Given the description of an element on the screen output the (x, y) to click on. 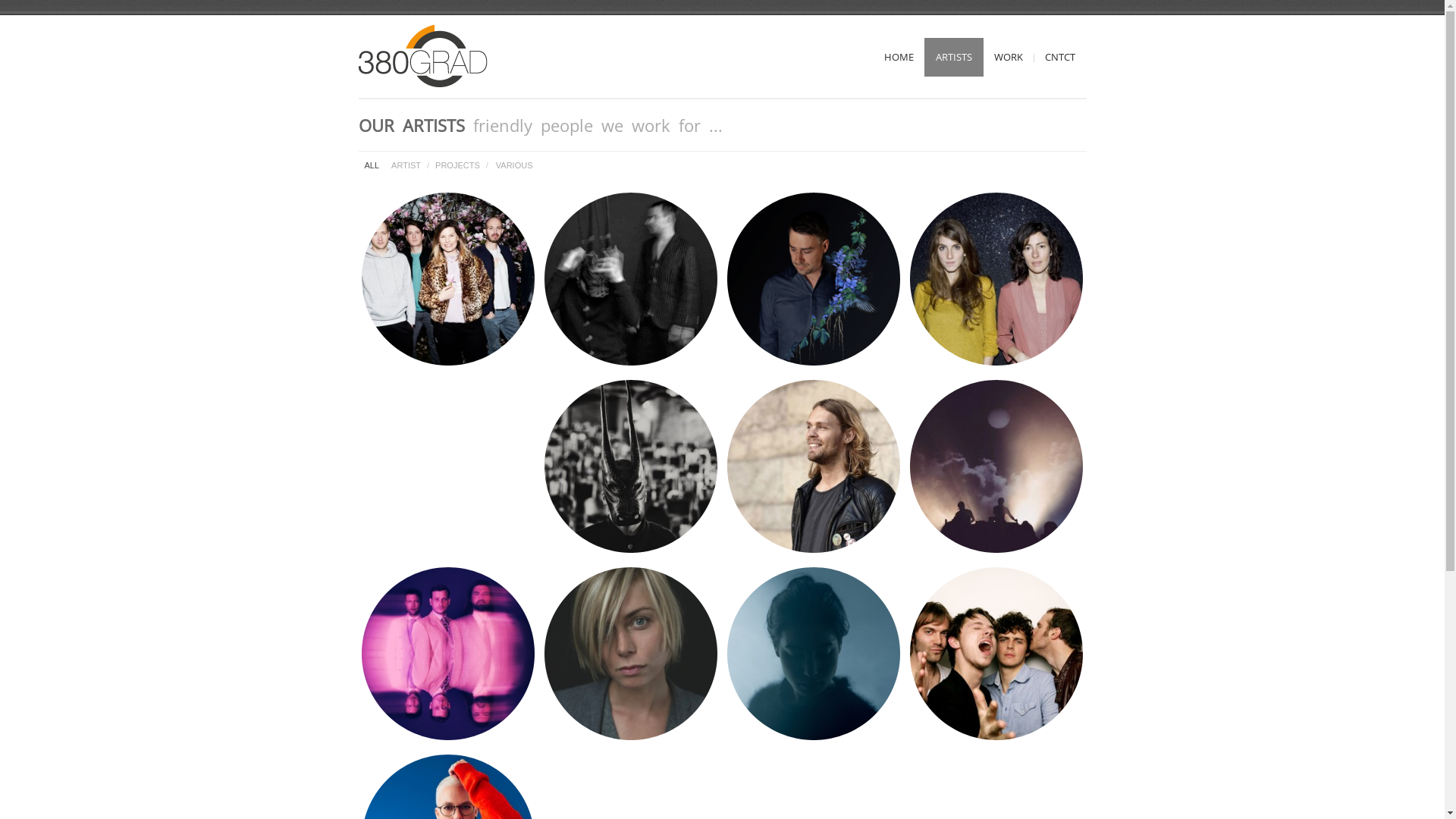
CNTCT Element type: text (1058, 56)
WORK Element type: text (1008, 56)
VARIOUS Element type: text (514, 165)
ARTISTS Element type: text (952, 56)
ARTIST Element type: text (406, 165)
HOME Element type: text (898, 56)
ALL Element type: text (372, 165)
PROJECTS Element type: text (457, 165)
